Given the description of an element on the screen output the (x, y) to click on. 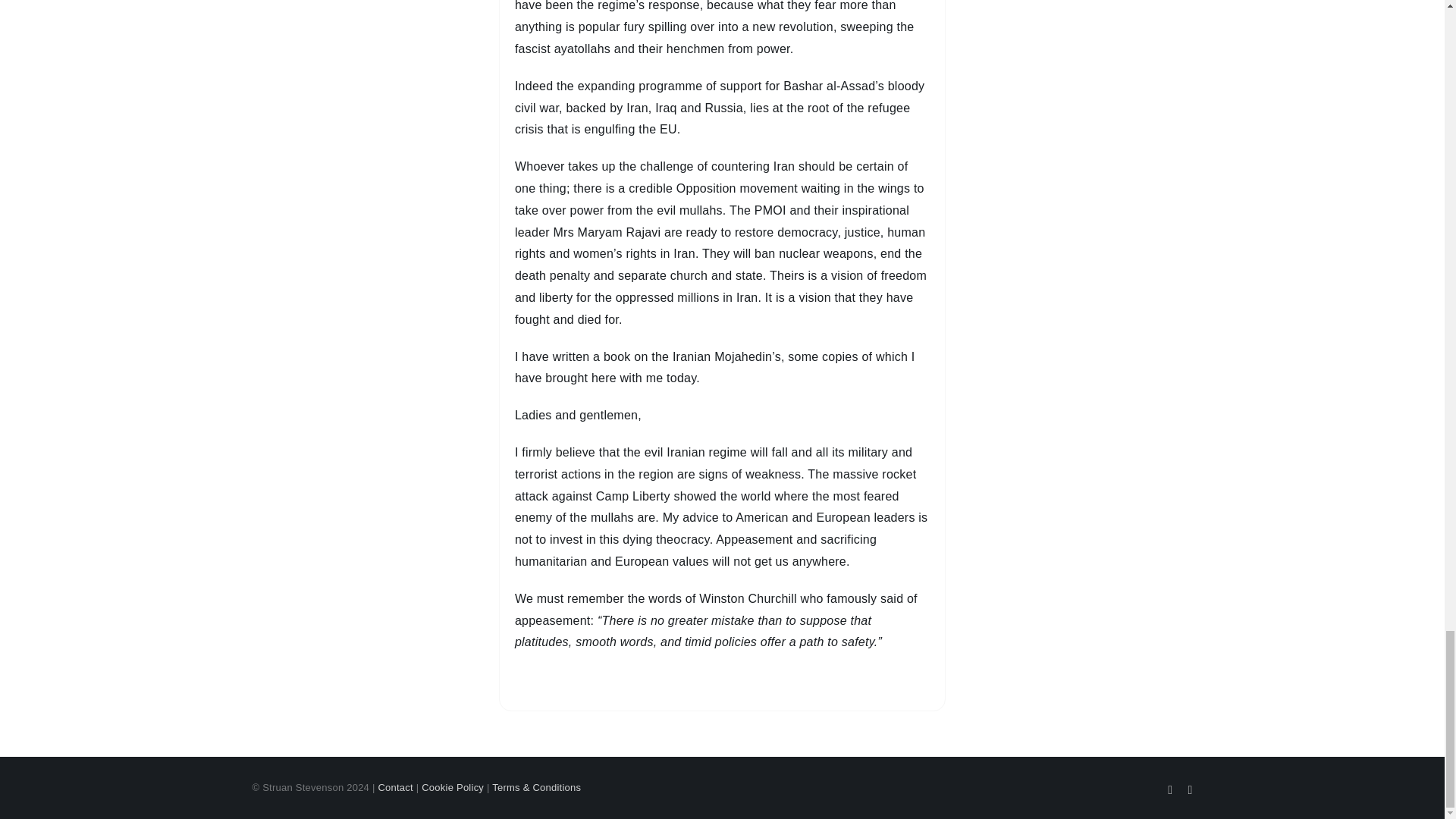
Contact Struan (394, 787)
Contact (394, 787)
Cookie Policy (452, 787)
